Given the description of an element on the screen output the (x, y) to click on. 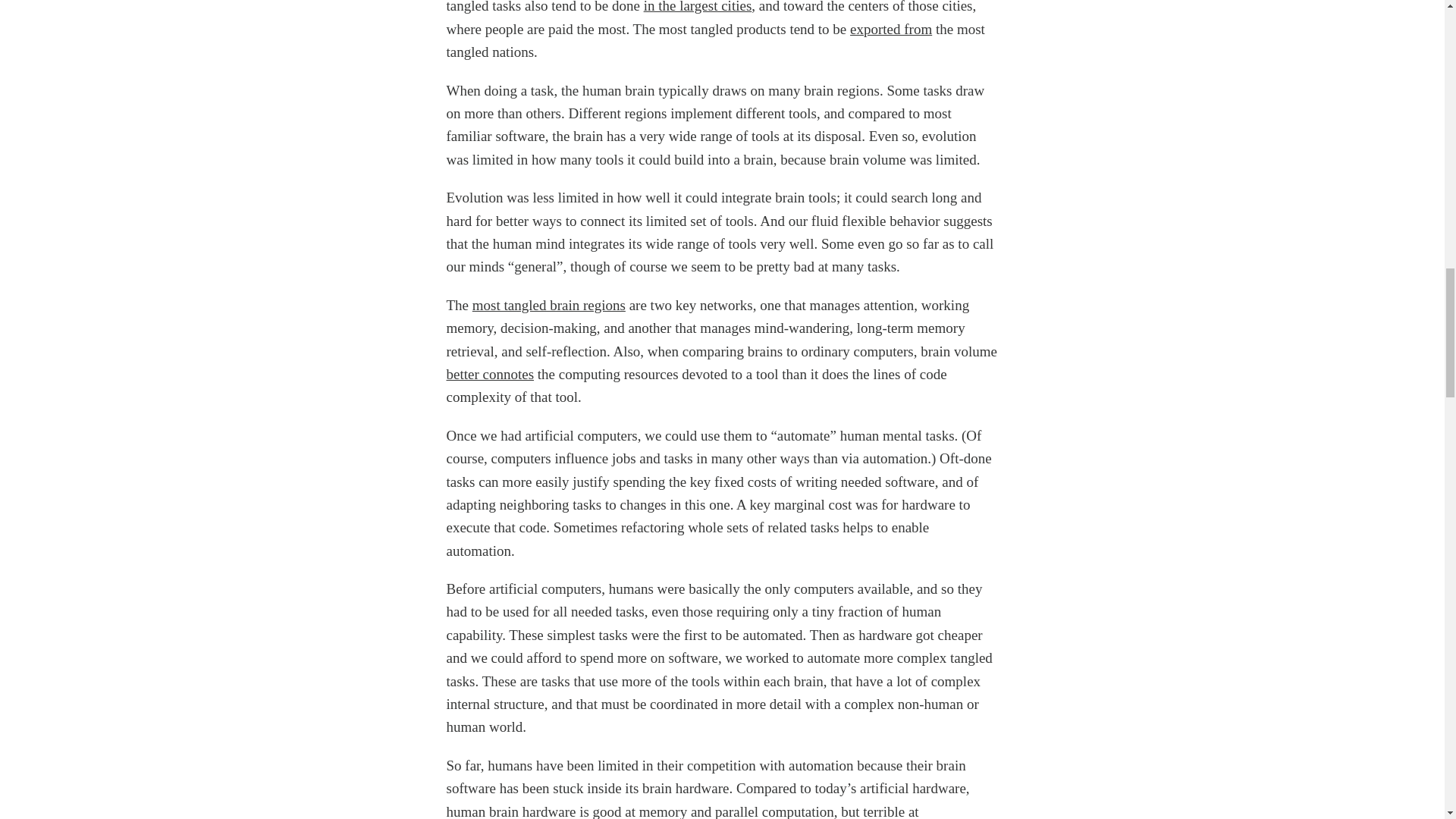
exported from (890, 28)
in the largest cities (697, 6)
better connotes (489, 374)
most tangled brain regions (548, 304)
